Given the description of an element on the screen output the (x, y) to click on. 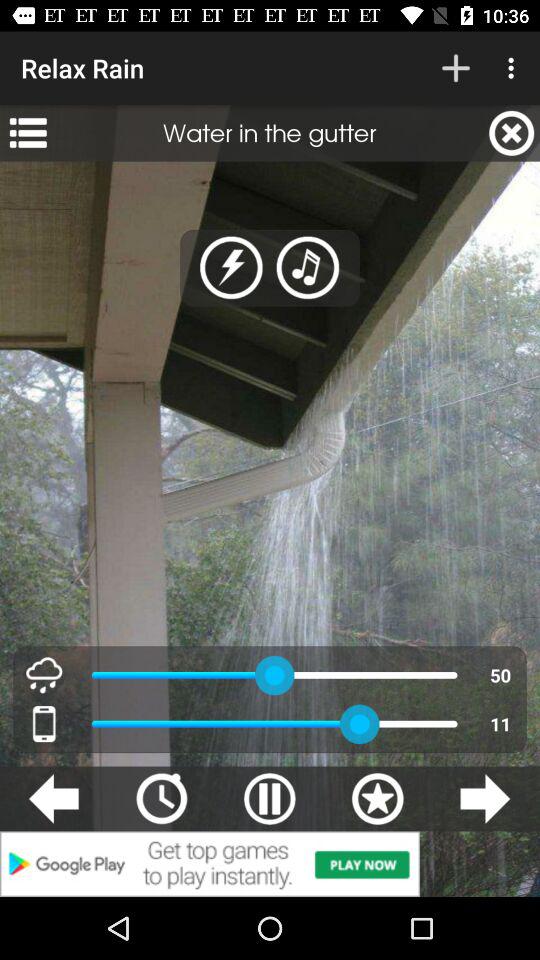
tap app next to the water in the app (28, 133)
